Given the description of an element on the screen output the (x, y) to click on. 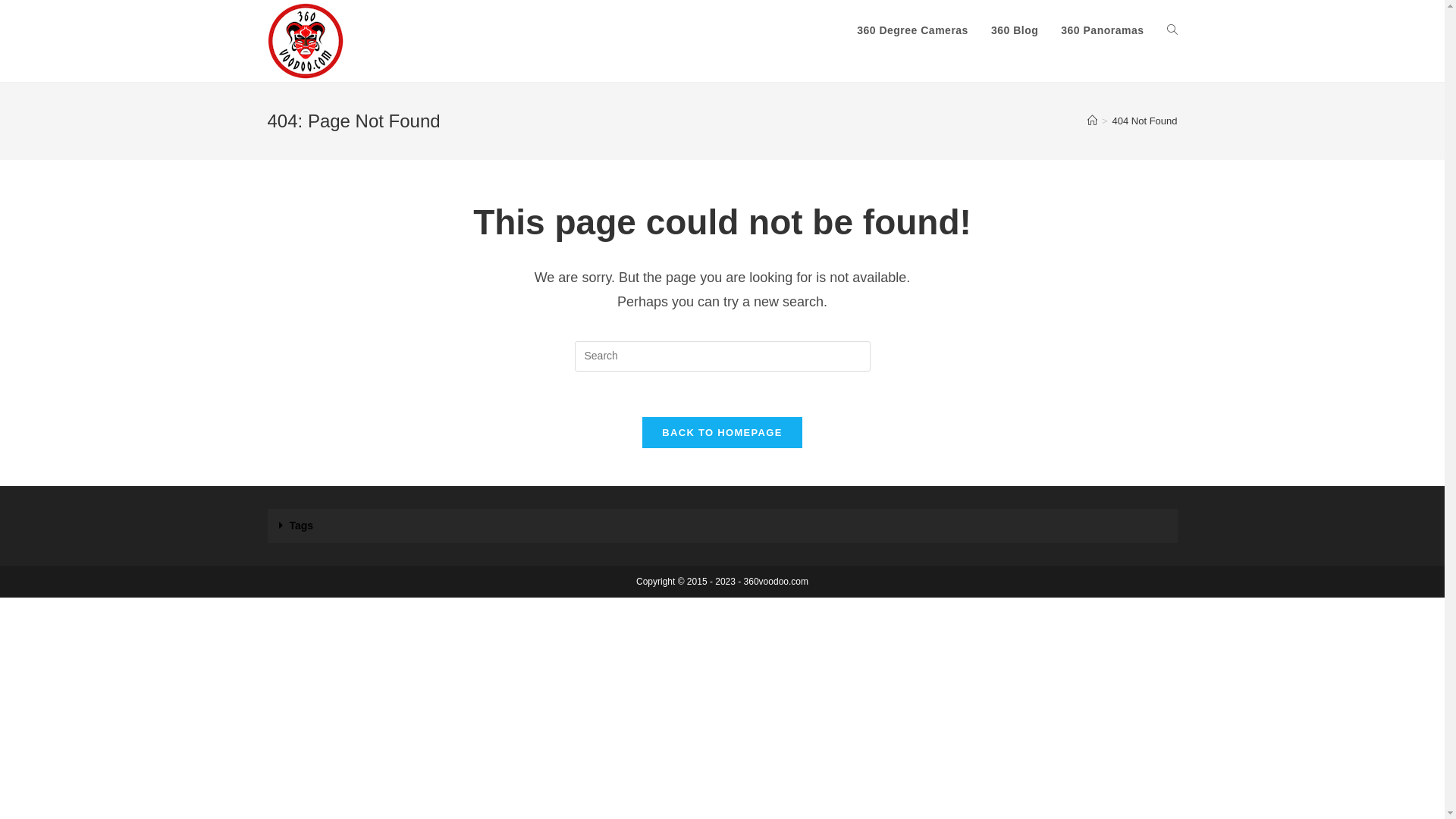
360 Panoramas Element type: text (1101, 30)
404 Not Found Element type: text (1143, 120)
360 Blog Element type: text (1014, 30)
BACK TO HOMEPAGE Element type: text (721, 432)
Tags Element type: text (301, 525)
360voodoo.com Element type: text (775, 581)
360 Degree Cameras Element type: text (912, 30)
